Given the description of an element on the screen output the (x, y) to click on. 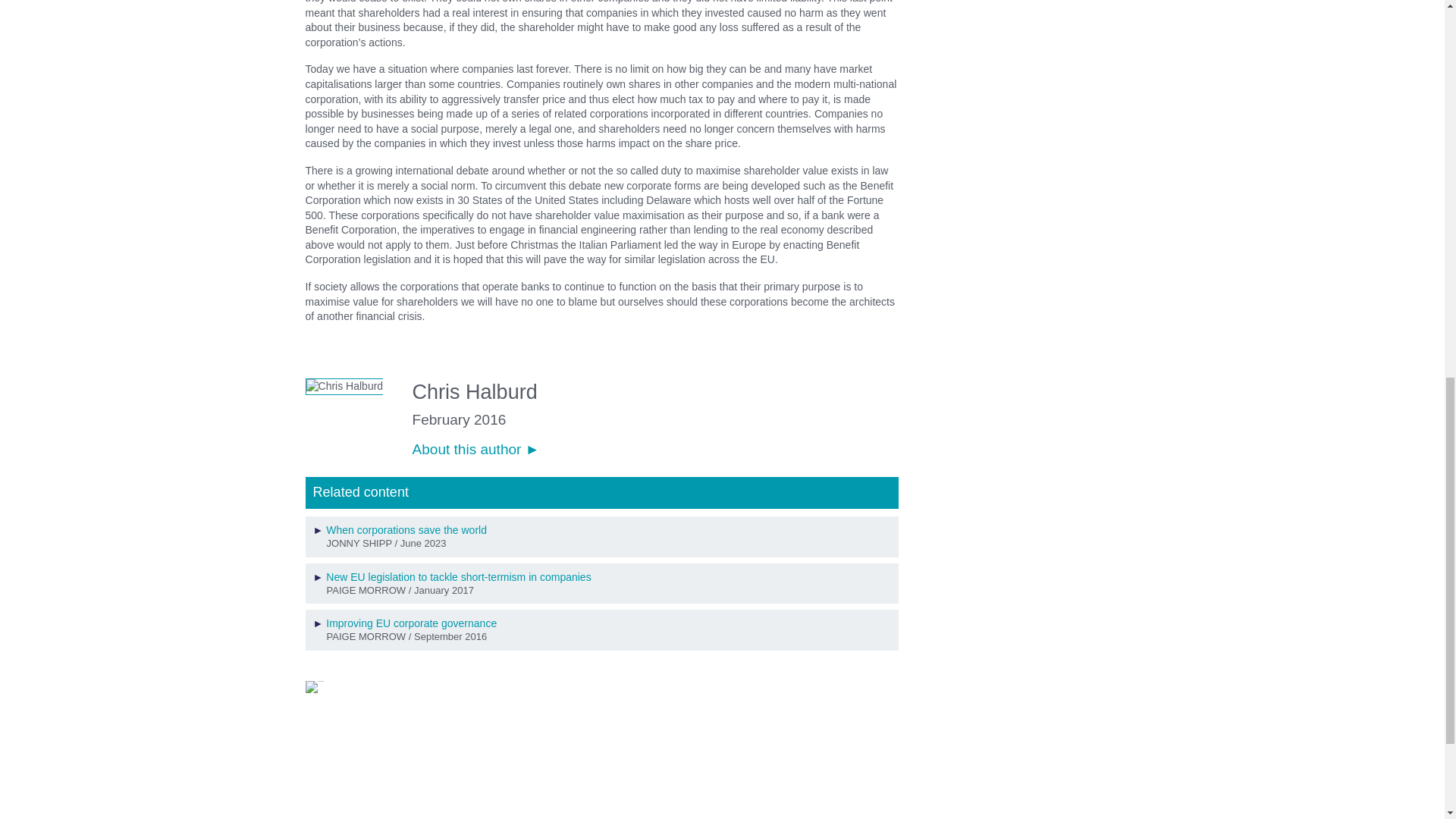
Improving EU corporate governance (411, 623)
When corporations save the world (406, 530)
New EU legislation to tackle short-termism in companies (458, 576)
